Given the description of an element on the screen output the (x, y) to click on. 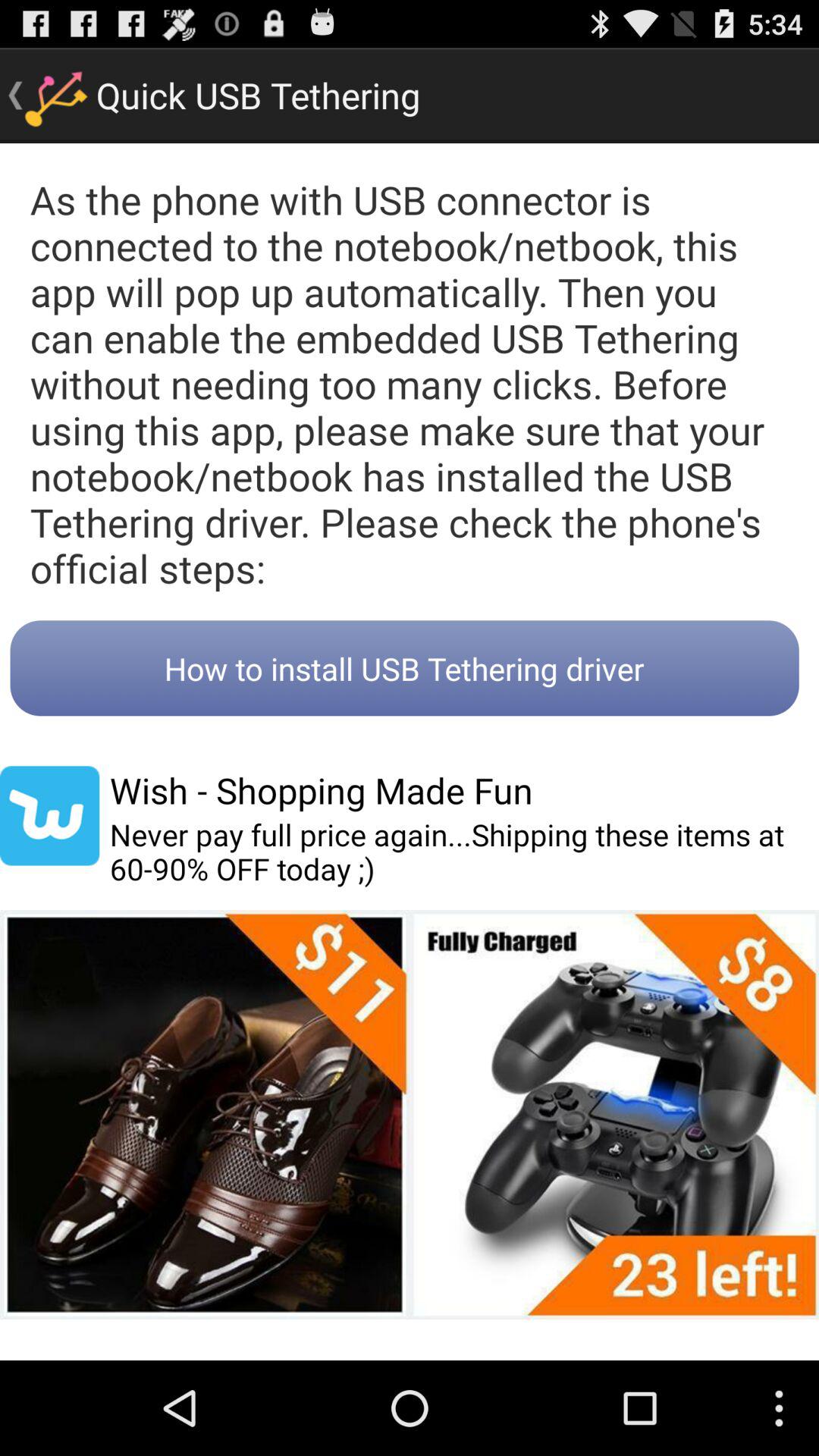
tap how to install button (404, 668)
